Given the description of an element on the screen output the (x, y) to click on. 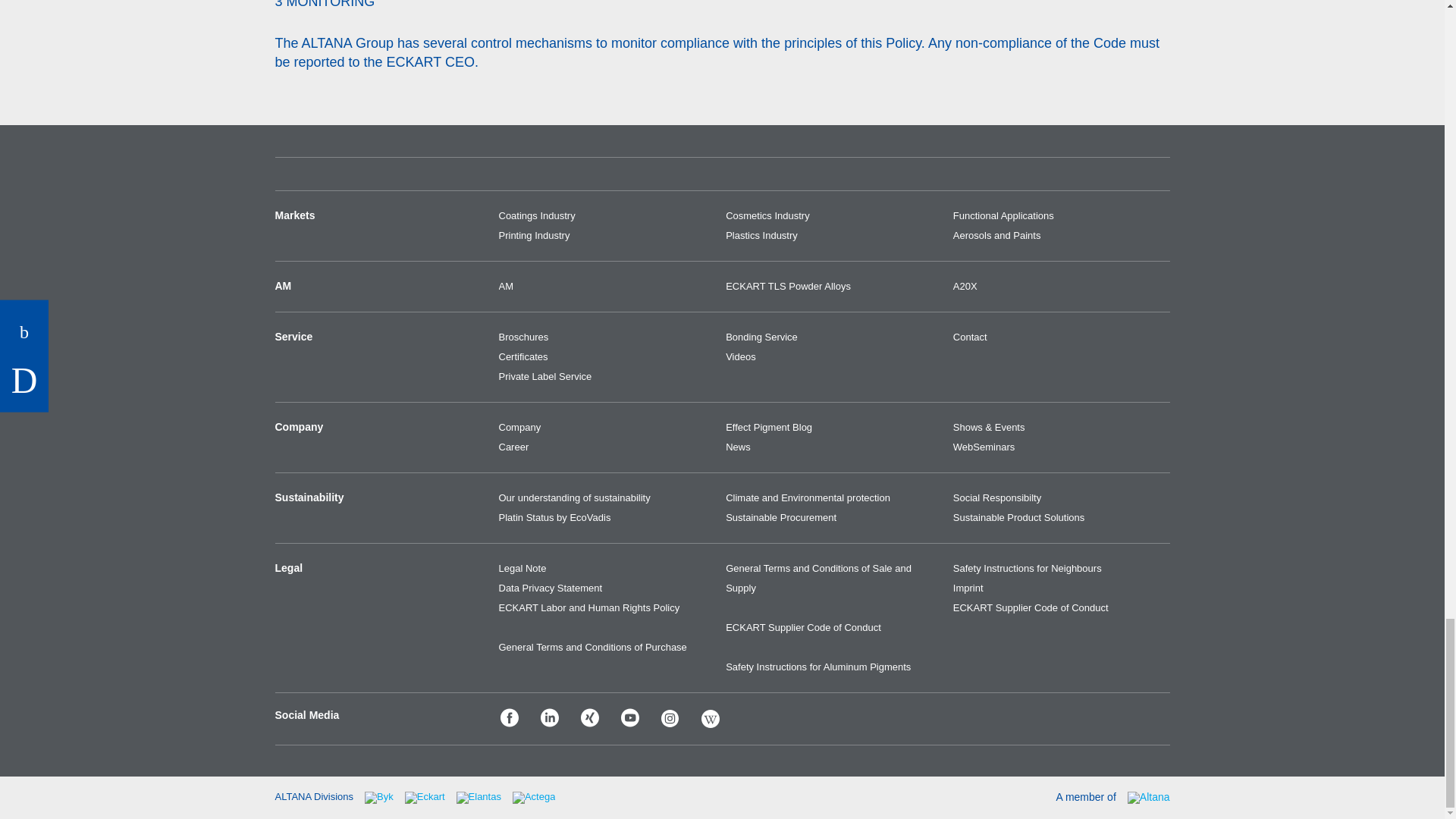
Functional Applications (1061, 216)
Certificates (607, 356)
Videos (833, 356)
Printing Industry (607, 235)
Private Label Service (607, 376)
Aerosols and Paints (1061, 235)
Plastics (833, 235)
AMspheres (833, 286)
Coatings Industry (607, 216)
Bonding-Service (833, 337)
AM (607, 286)
